Given the description of an element on the screen output the (x, y) to click on. 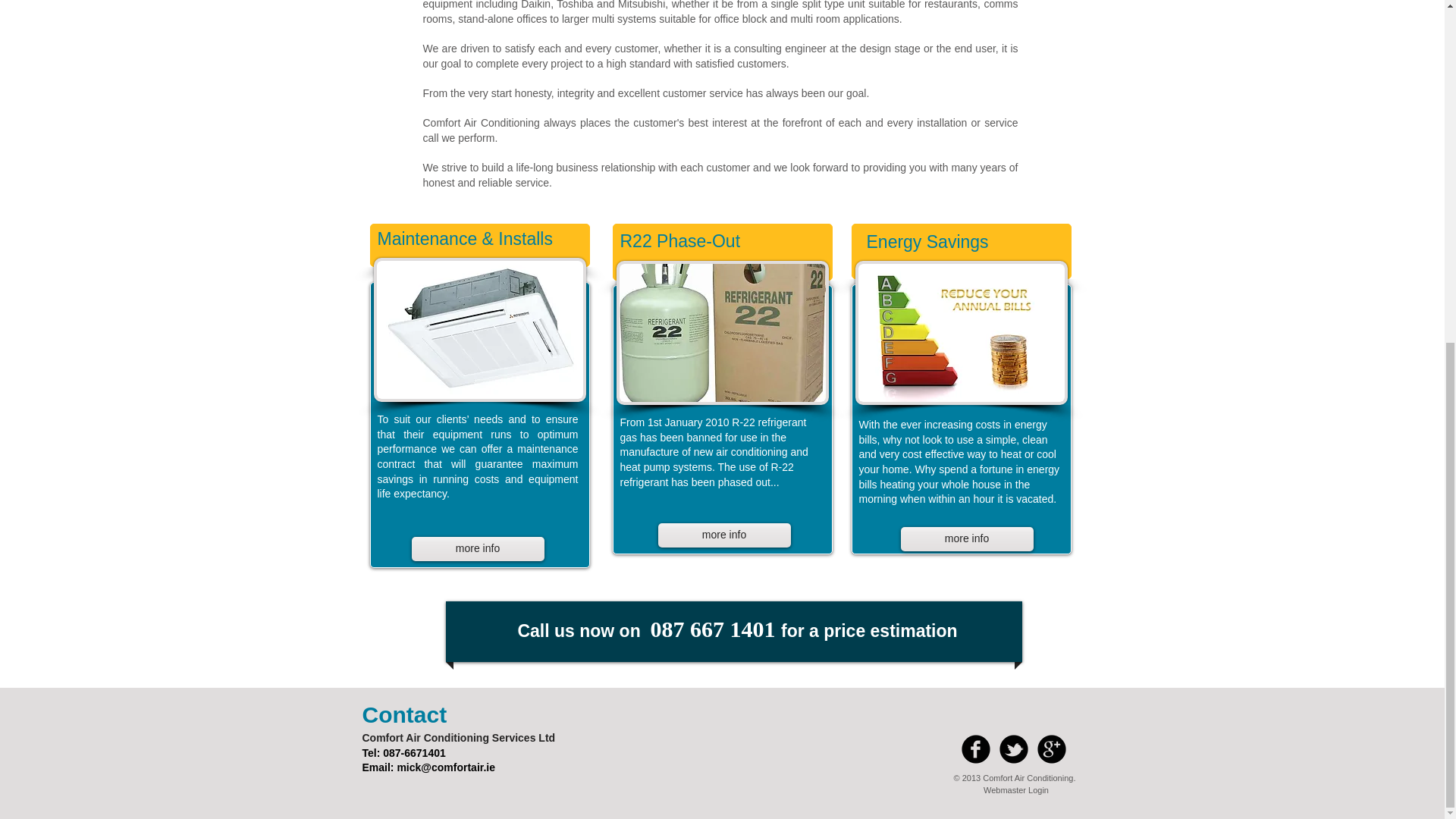
more info (967, 539)
more info (724, 535)
ac unit.jpg (478, 329)
more info (476, 549)
REDUCED BILLS.jpg (961, 332)
Webmaster Login (1016, 789)
